Given the description of an element on the screen output the (x, y) to click on. 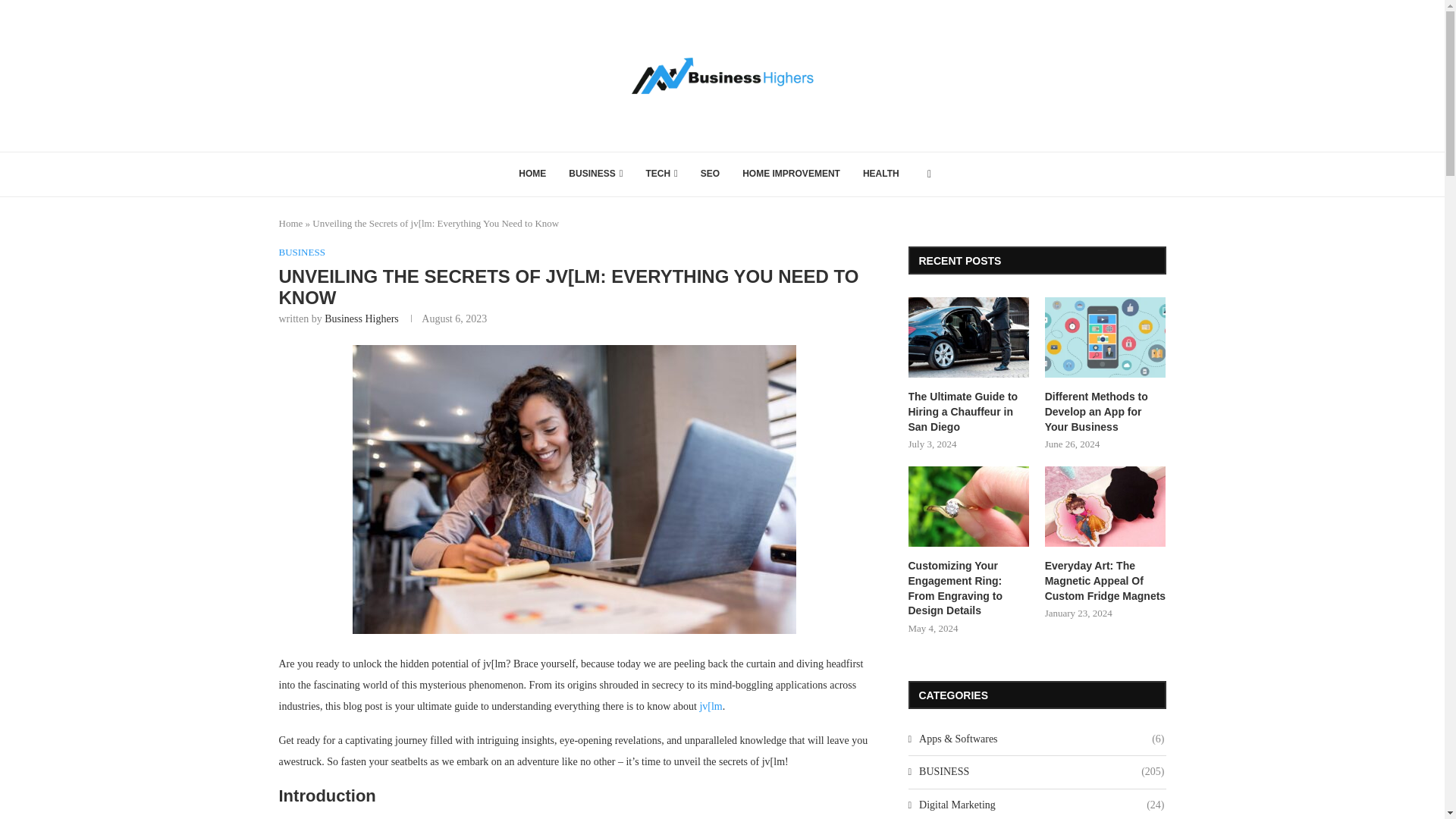
TECH (660, 174)
HOME IMPROVEMENT (790, 174)
SEO (709, 174)
HEALTH (881, 174)
Home (290, 223)
HOME (531, 174)
Business Highers (361, 318)
BUSINESS (595, 174)
BUSINESS (301, 252)
